Given the description of an element on the screen output the (x, y) to click on. 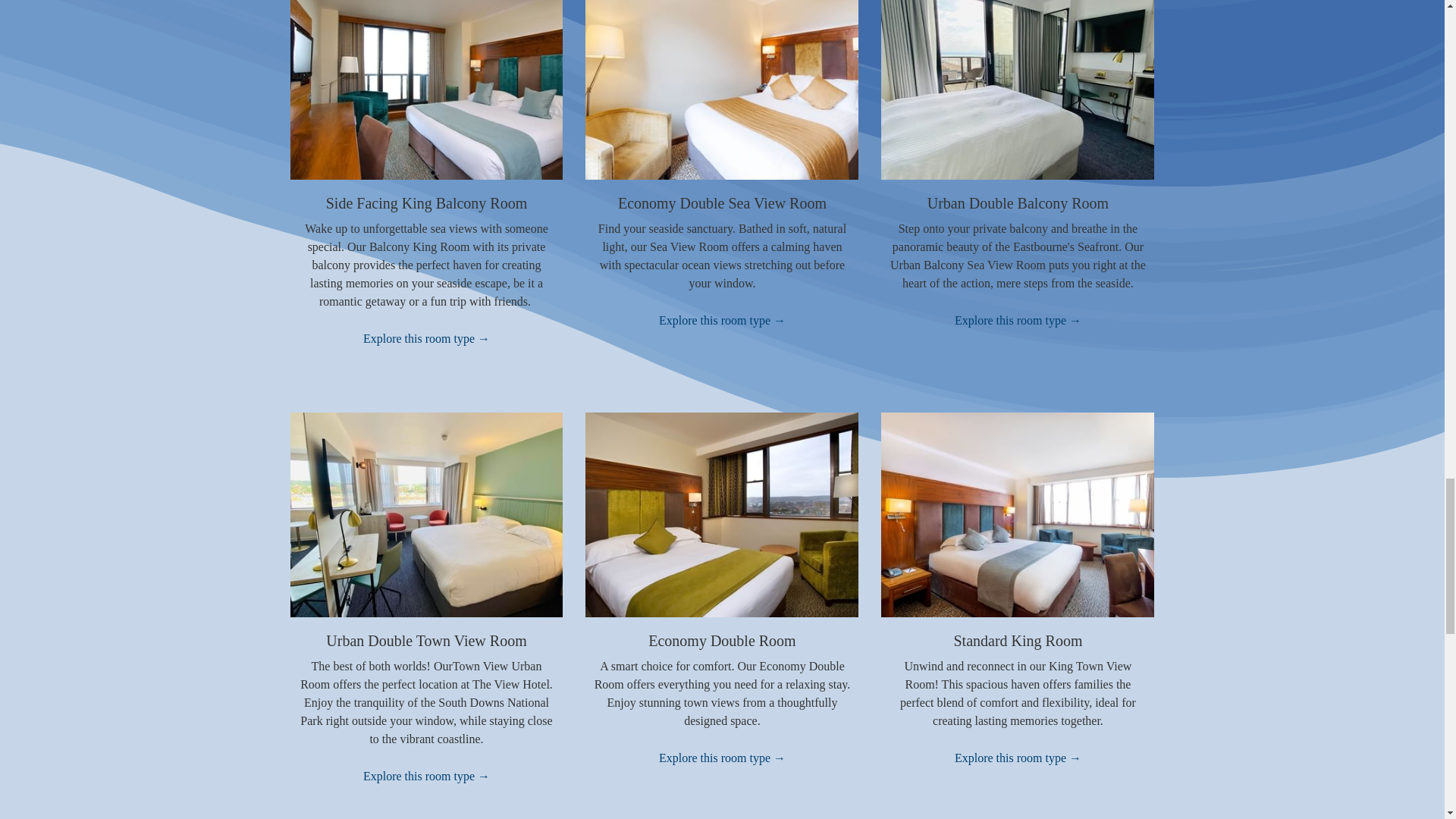
Economy Double Sea View Room (722, 202)
Side Facing King Balcony Room (426, 202)
Explore this room type (722, 321)
Explore this room type (425, 339)
